Given the description of an element on the screen output the (x, y) to click on. 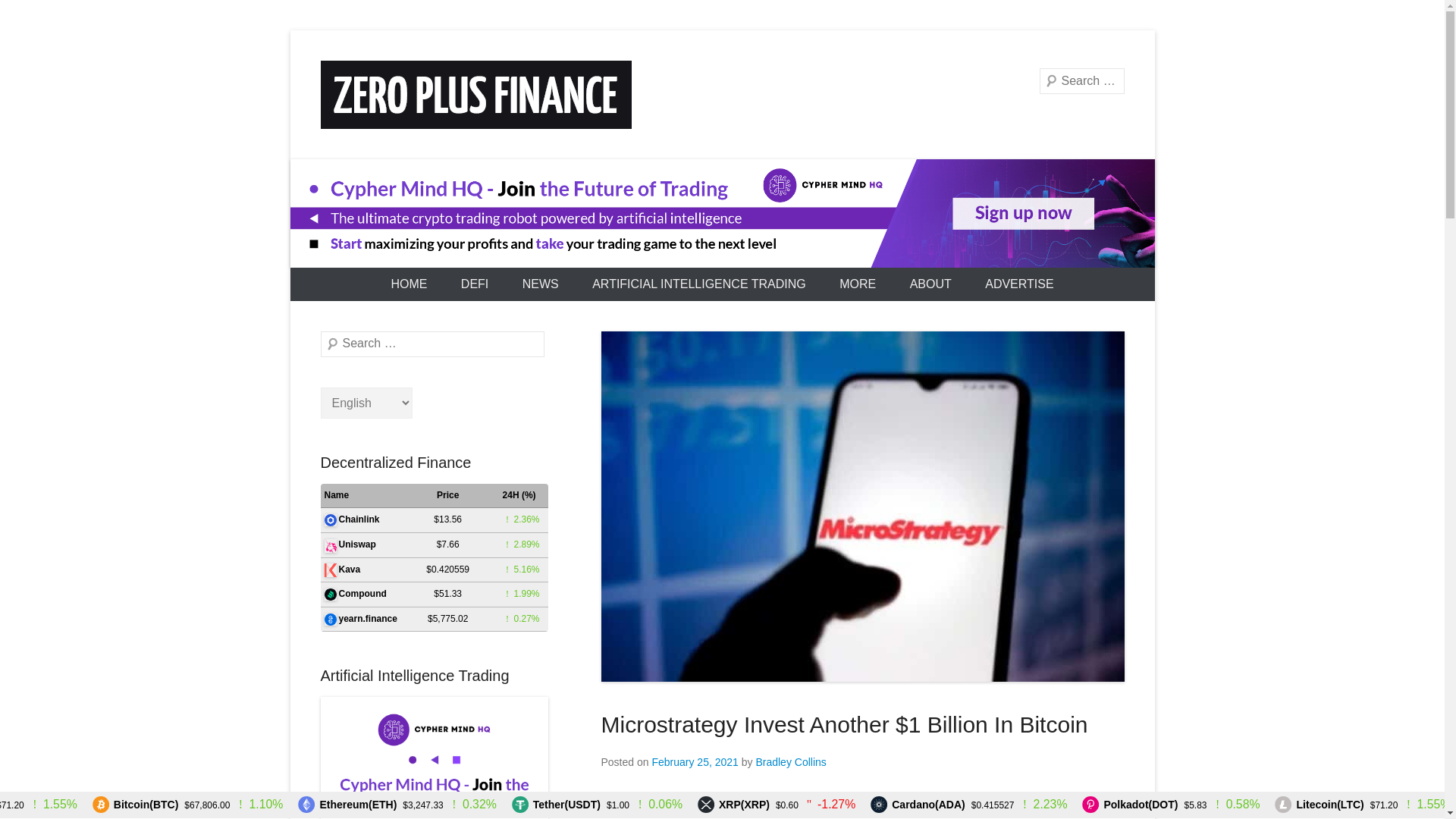
Bradley Collins (790, 761)
NEWS (539, 284)
MORE (857, 284)
Zero Plus Finance (483, 155)
February 25, 2021 (694, 761)
3:24 pm (694, 761)
View all posts by Bradley Collins (790, 761)
ABOUT (930, 284)
ARTIFICIAL INTELLIGENCE TRADING (698, 284)
HOME (408, 284)
Search (32, 15)
DEFI (474, 284)
ADVERTISE (1018, 284)
Start Trading (721, 212)
